Given the description of an element on the screen output the (x, y) to click on. 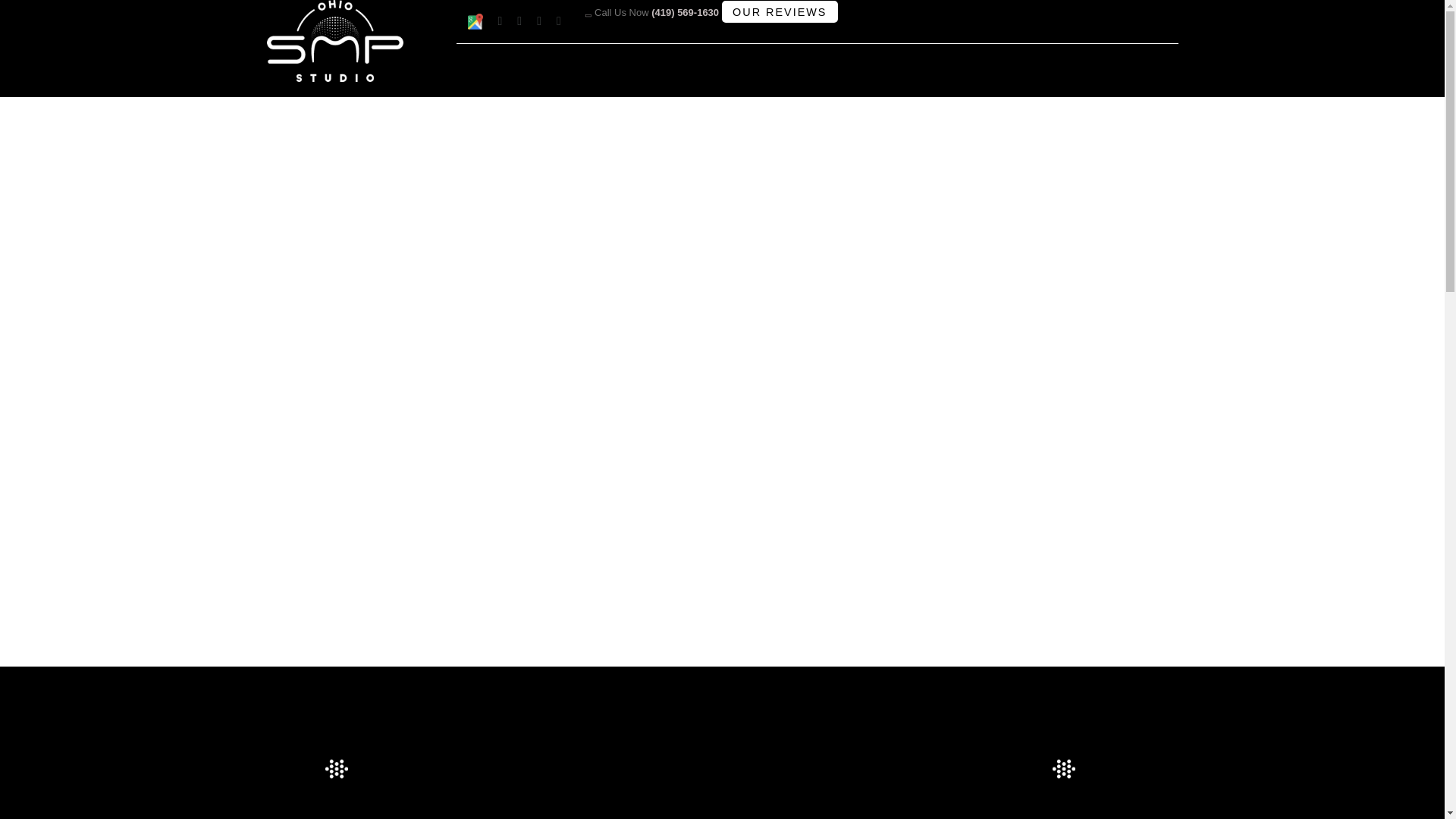
star (1063, 768)
Google My Business Profile (474, 21)
star (335, 768)
OUR REVIEWS (780, 11)
Google My Business Profile (474, 21)
